Given the description of an element on the screen output the (x, y) to click on. 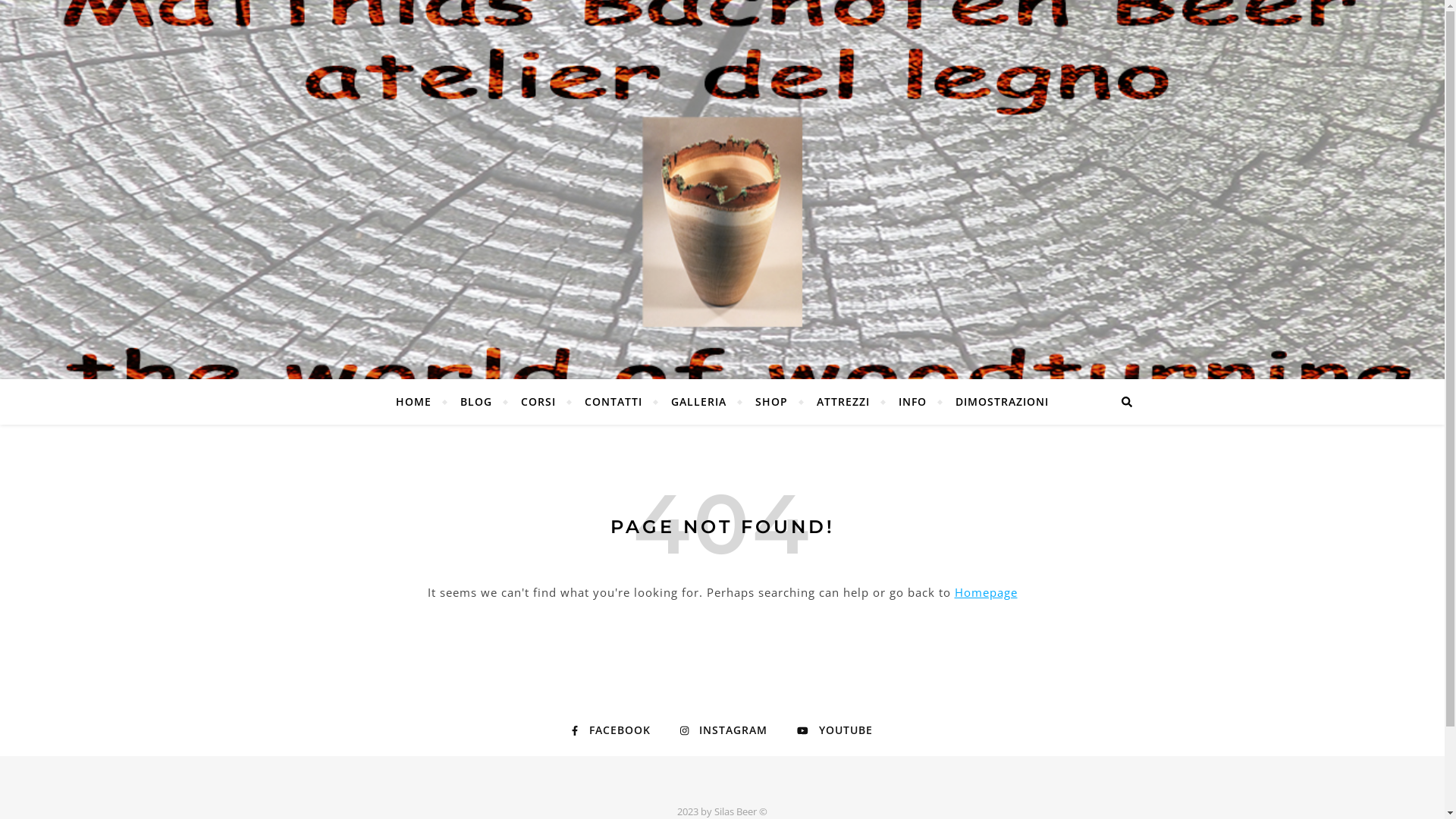
INFO Element type: text (912, 401)
CORSI Element type: text (538, 401)
SHOP Element type: text (771, 401)
ATTREZZI Element type: text (842, 401)
INSTAGRAM Element type: text (723, 729)
HOME Element type: text (419, 401)
YOUTUBE Element type: text (834, 729)
GALLERIA Element type: text (698, 401)
BLOG Element type: text (476, 401)
DIMOSTRAZIONI Element type: text (995, 401)
Homepage Element type: text (984, 591)
CONTATTI Element type: text (613, 401)
FACEBOOK Element type: text (610, 729)
